Given the description of an element on the screen output the (x, y) to click on. 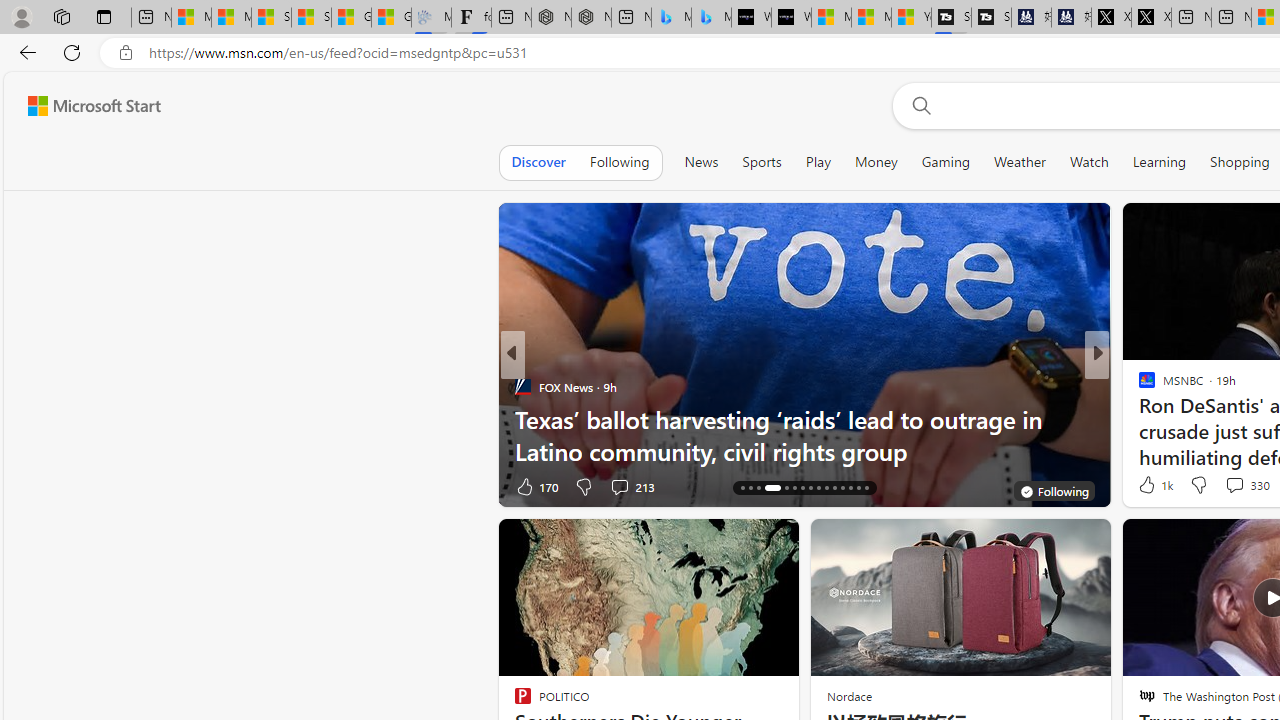
AutomationID: tab-22 (801, 487)
View comments 213 Comment (632, 486)
View comments 33 Comment (1237, 486)
View comments 152 Comment (11, 485)
You're following FOX News (1053, 490)
497 Like (1151, 486)
Comments turned off for this story (1222, 485)
FOX News (522, 386)
View comments 213 Comment (619, 485)
AutomationID: tab-16 (742, 487)
